Given the description of an element on the screen output the (x, y) to click on. 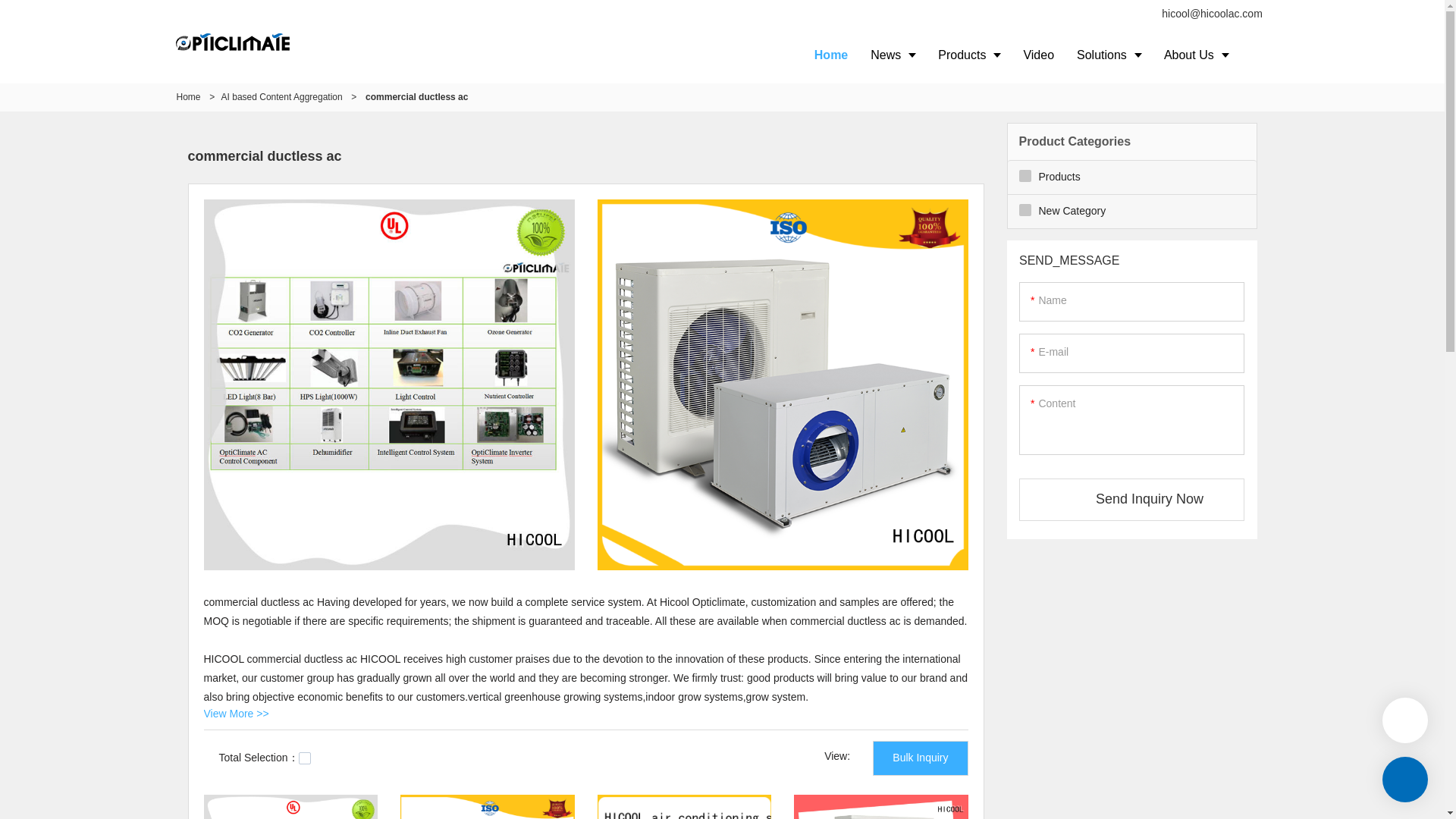
About Us (1196, 55)
AI based Content Aggregation (281, 96)
Solutions (1109, 55)
Home (831, 55)
on (304, 758)
Home (188, 96)
Products (968, 55)
Video (1038, 55)
News (892, 55)
